Given the description of an element on the screen output the (x, y) to click on. 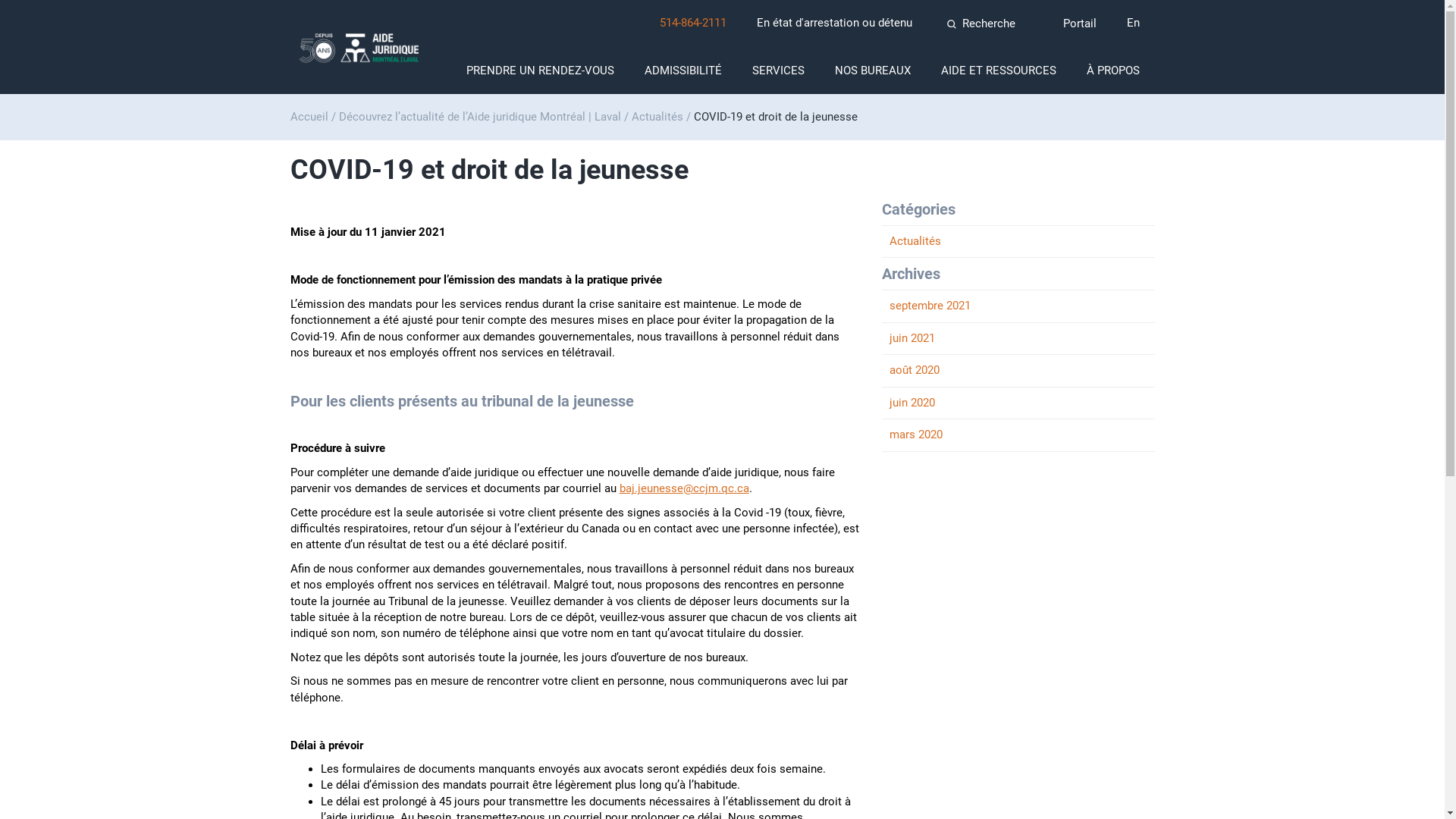
En Element type: text (1132, 22)
Accueil Element type: text (308, 116)
juin 2020 Element type: text (1017, 402)
mars 2020 Element type: text (1017, 434)
septembre 2021 Element type: text (1017, 305)
Portail Element type: text (1076, 23)
SERVICES Element type: text (778, 70)
juin 2021 Element type: text (1017, 338)
PRENDRE UN RENDEZ-VOUS Element type: text (539, 70)
AIDE ET RESSOURCES Element type: text (997, 70)
514-864-2111 Element type: text (692, 22)
NOS BUREAUX Element type: text (872, 70)
baj.jeunesse@ccjm.qc.ca Element type: text (683, 488)
